Given the description of an element on the screen output the (x, y) to click on. 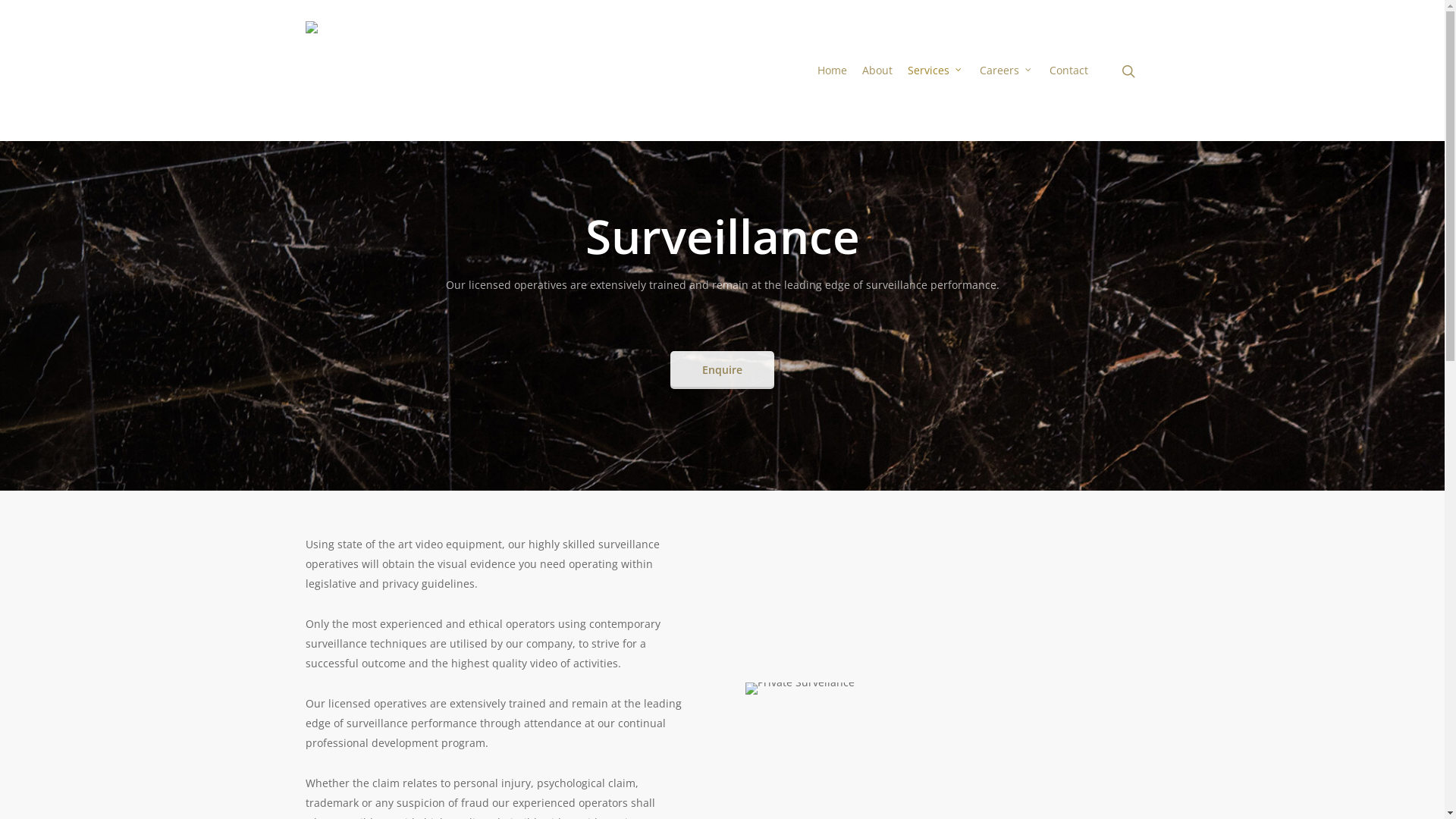
Services Element type: text (935, 70)
About Element type: text (876, 70)
Enquire Element type: text (722, 370)
Contact Element type: text (1068, 70)
Home Element type: text (831, 70)
Careers Element type: text (1006, 70)
